Given the description of an element on the screen output the (x, y) to click on. 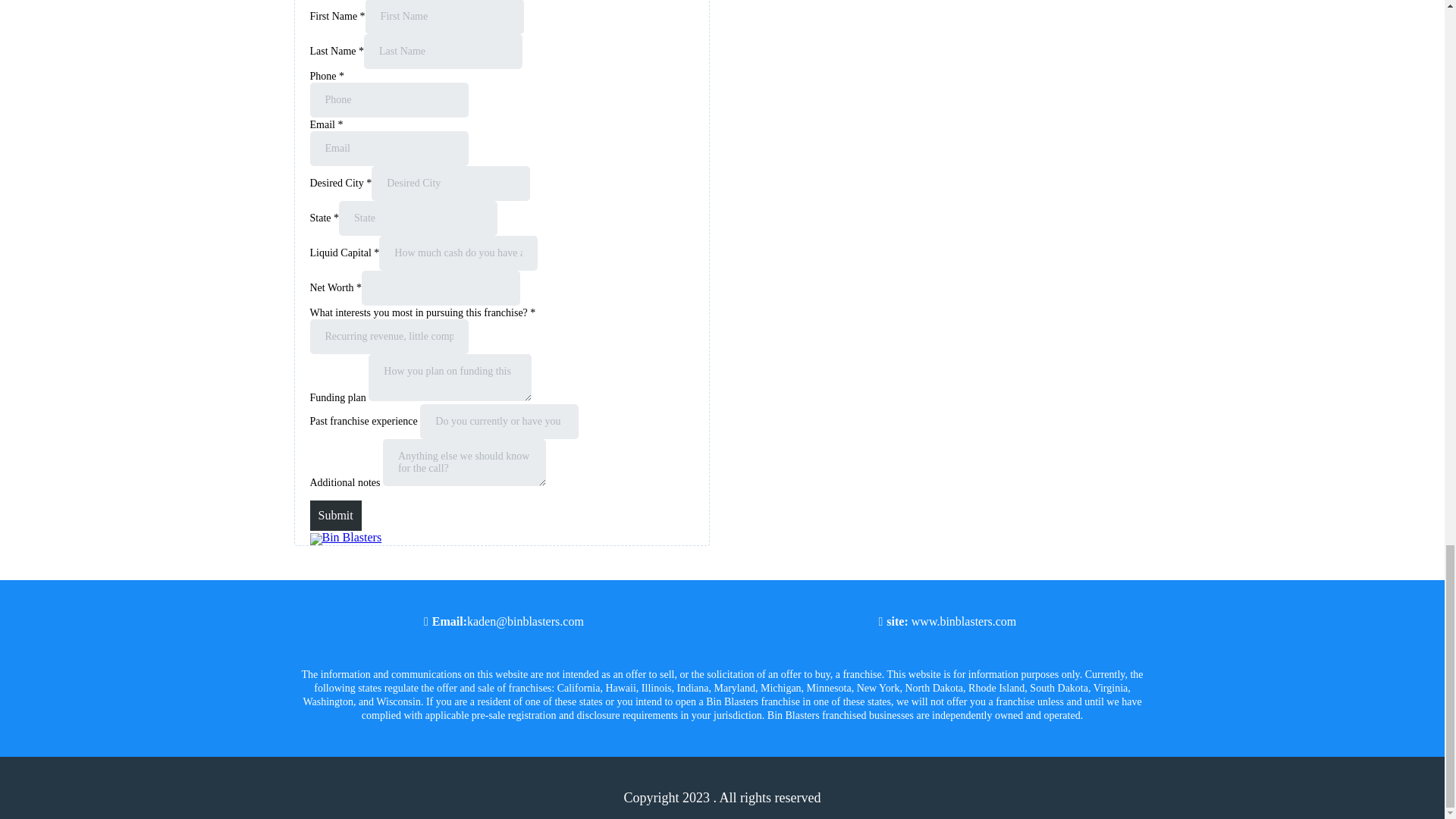
Bin Blasters (344, 536)
Submit (334, 515)
